Given the description of an element on the screen output the (x, y) to click on. 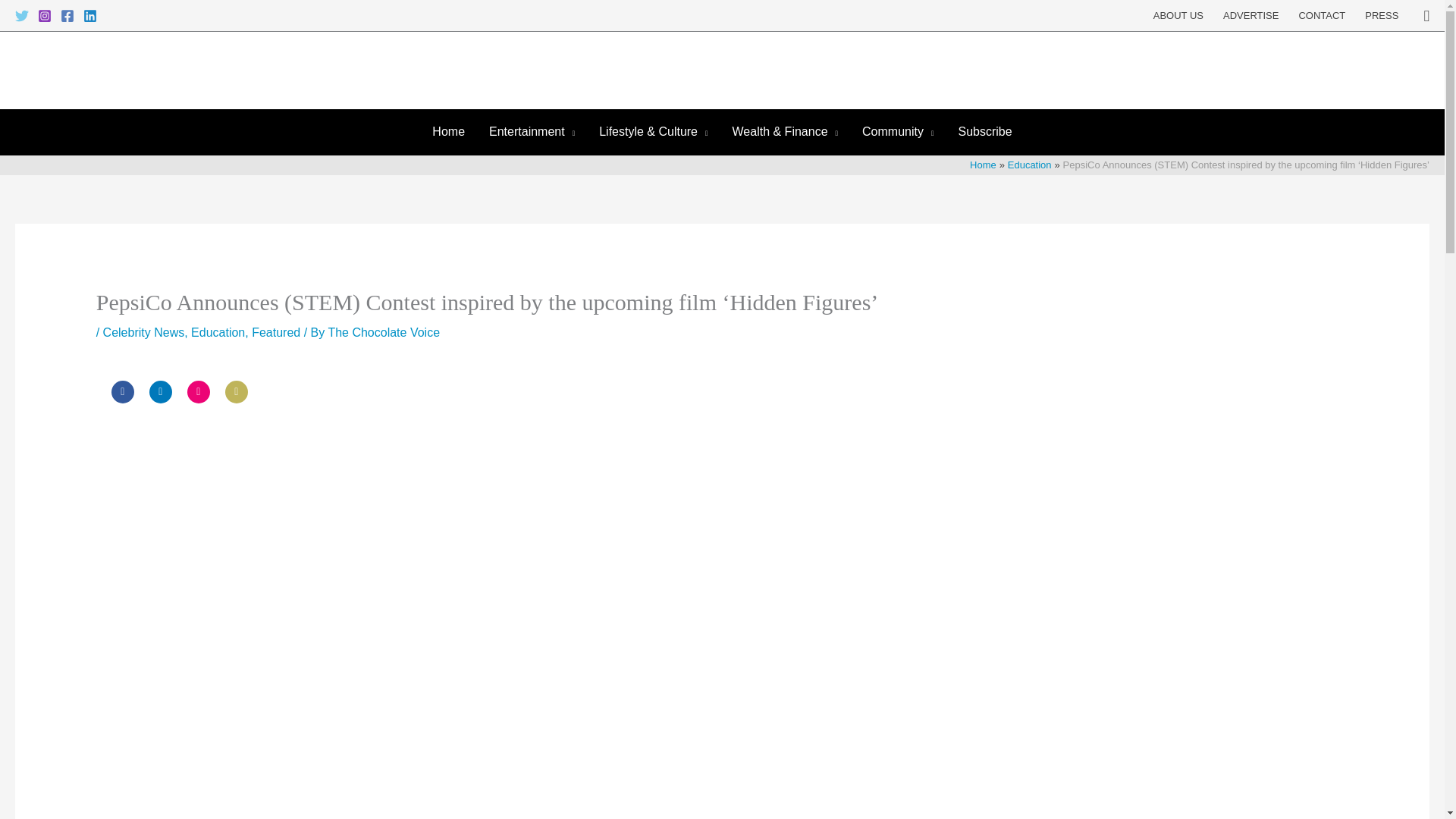
View all posts by The Chocolate Voice (383, 332)
ABOUT US (1177, 15)
CONTACT (1321, 15)
Entertainment (531, 131)
ADVERTISE (1250, 15)
Subscribe (983, 131)
PRESS (1381, 15)
Home (448, 131)
Community (897, 131)
